Given the description of an element on the screen output the (x, y) to click on. 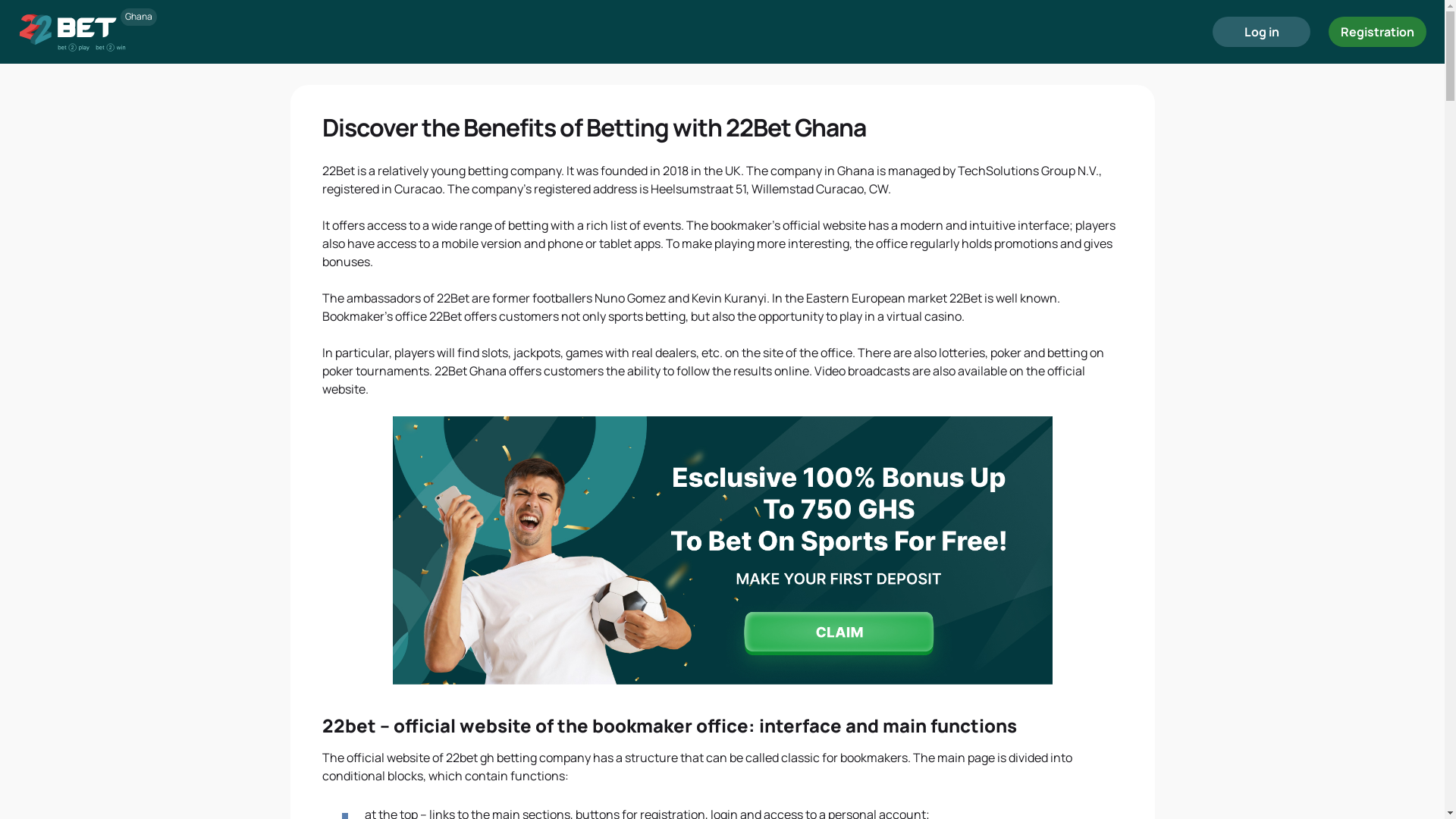
Log in Element type: text (1261, 31)
Ghana Element type: text (71, 31)
Registration Element type: text (1377, 31)
22bet ghana Element type: hover (722, 550)
logo Element type: hover (71, 31)
